Given the description of an element on the screen output the (x, y) to click on. 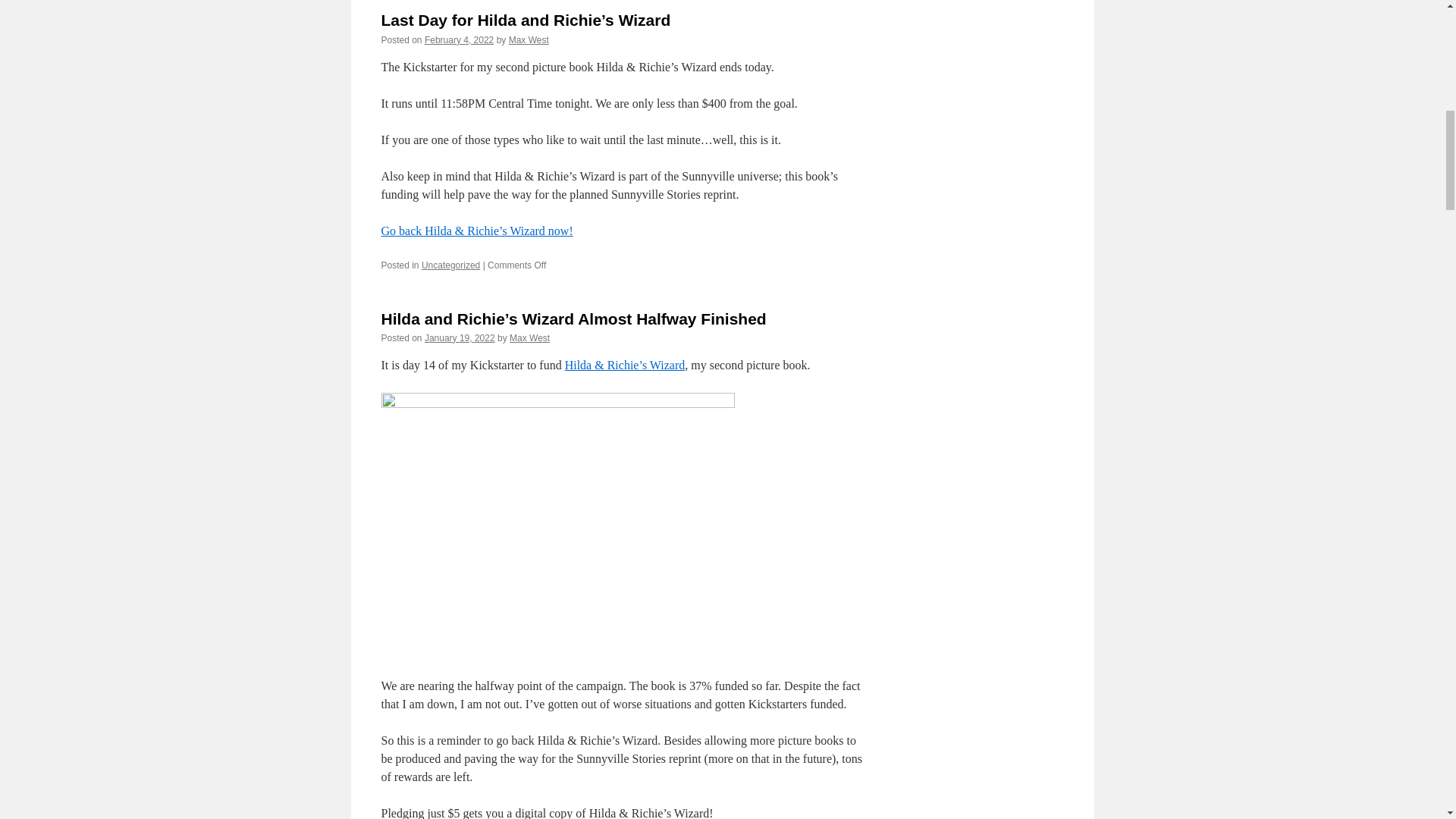
View all posts by Max West (528, 40)
7:28 am (459, 40)
February 4, 2022 (459, 40)
8:02 pm (460, 337)
January 19, 2022 (460, 337)
View all posts by Max West (529, 337)
Uncategorized (451, 265)
Max West (529, 337)
Max West (528, 40)
